Given the description of an element on the screen output the (x, y) to click on. 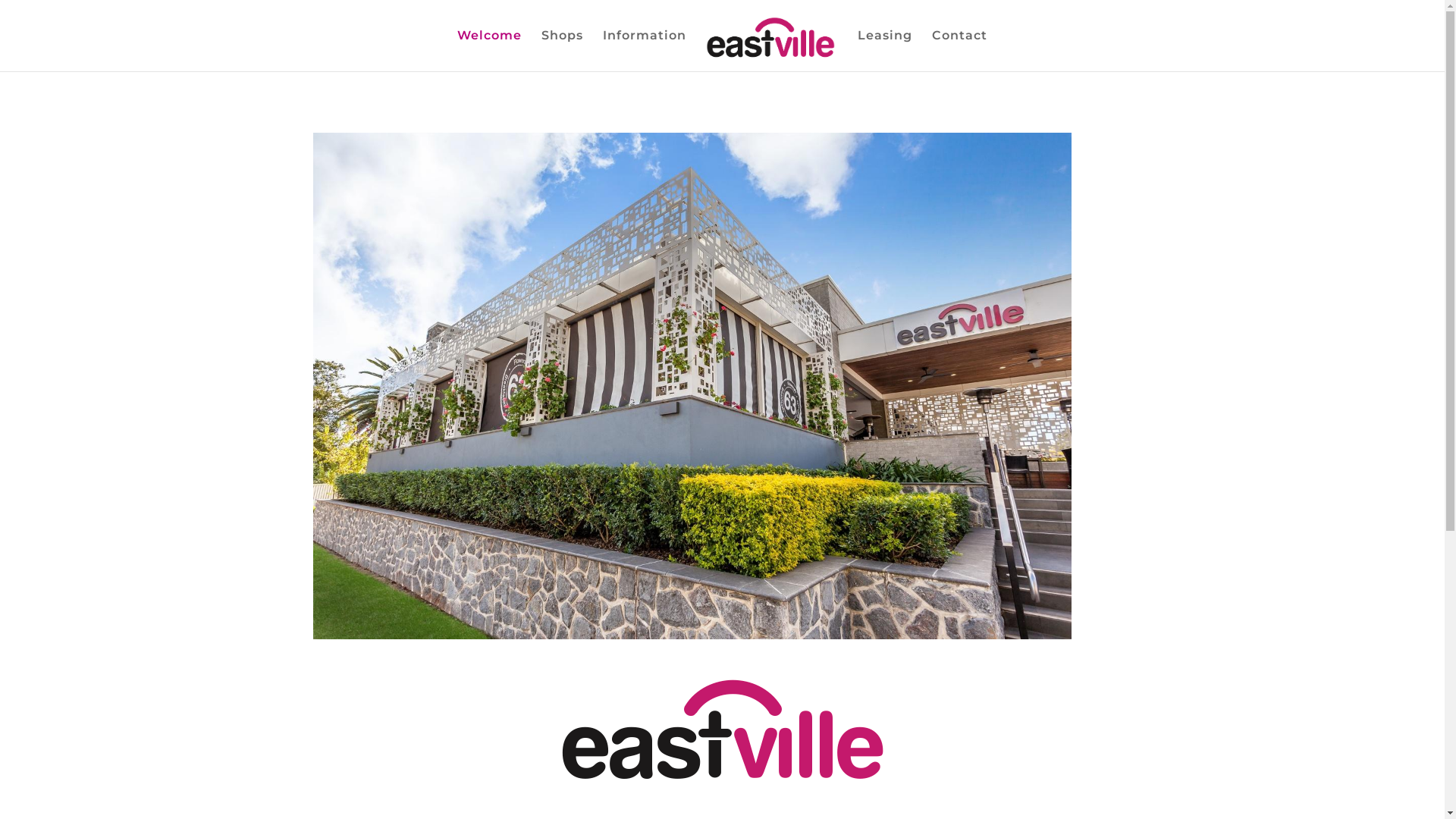
Information Element type: text (644, 50)
Welcome Element type: text (489, 50)
Leasing Element type: text (884, 50)
Eastville Toowoomba Shopping Centre Element type: hover (722, 726)
Contact Element type: text (959, 50)
Shops Element type: text (562, 50)
Eastville Toowoomba Shopping Centre Element type: hover (691, 385)
